Given the description of an element on the screen output the (x, y) to click on. 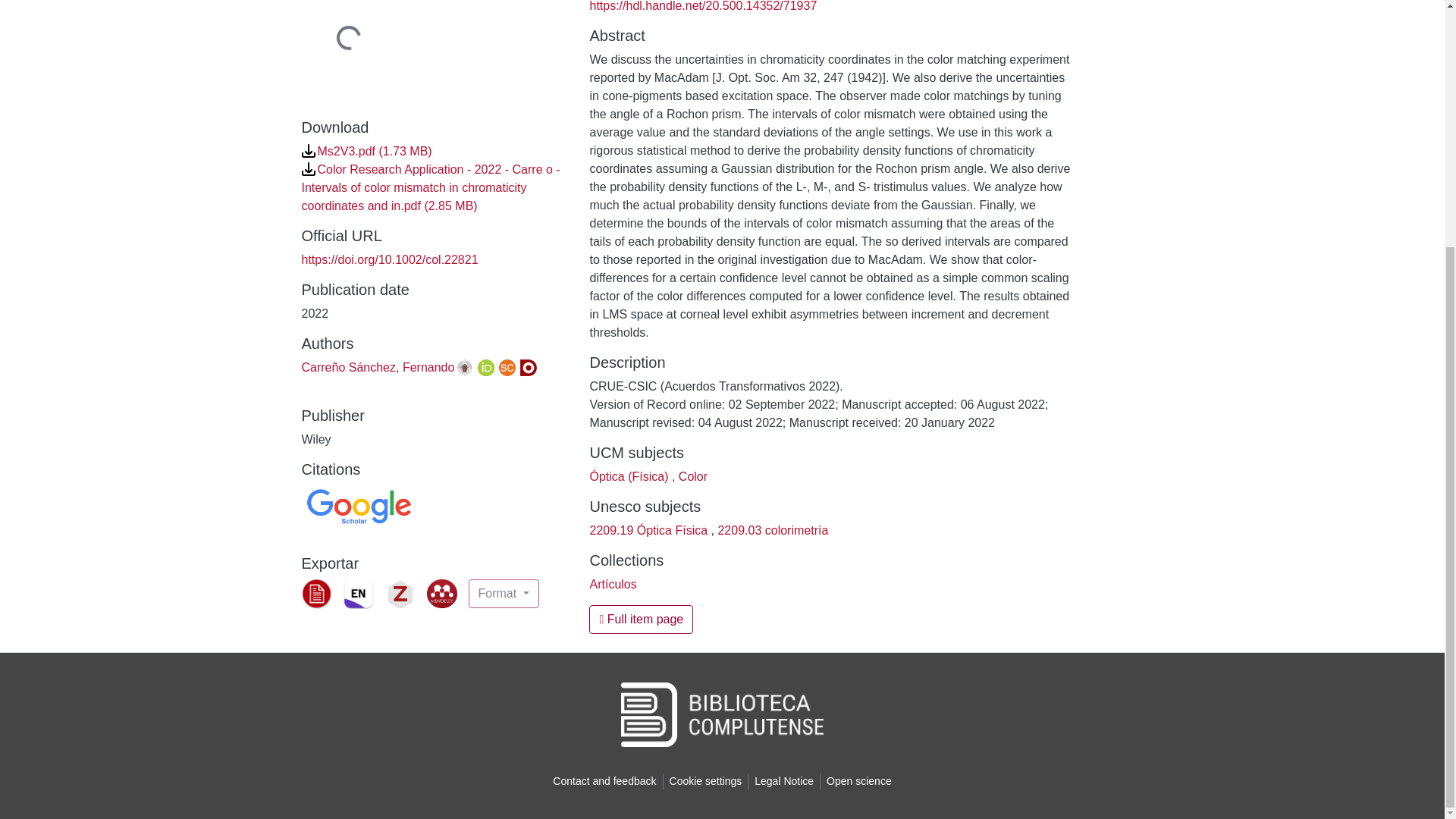
downoloade (308, 169)
UCM identifier (465, 367)
REFWORKS (316, 593)
ORCID (486, 367)
Format (503, 593)
MENDELEY (441, 593)
Scopus Author ID (507, 367)
downoloade (308, 151)
Dialnet ID (528, 367)
ZOTERO (399, 593)
ENDNOTE (357, 593)
Citations in Google Scholar (357, 505)
